Given the description of an element on the screen output the (x, y) to click on. 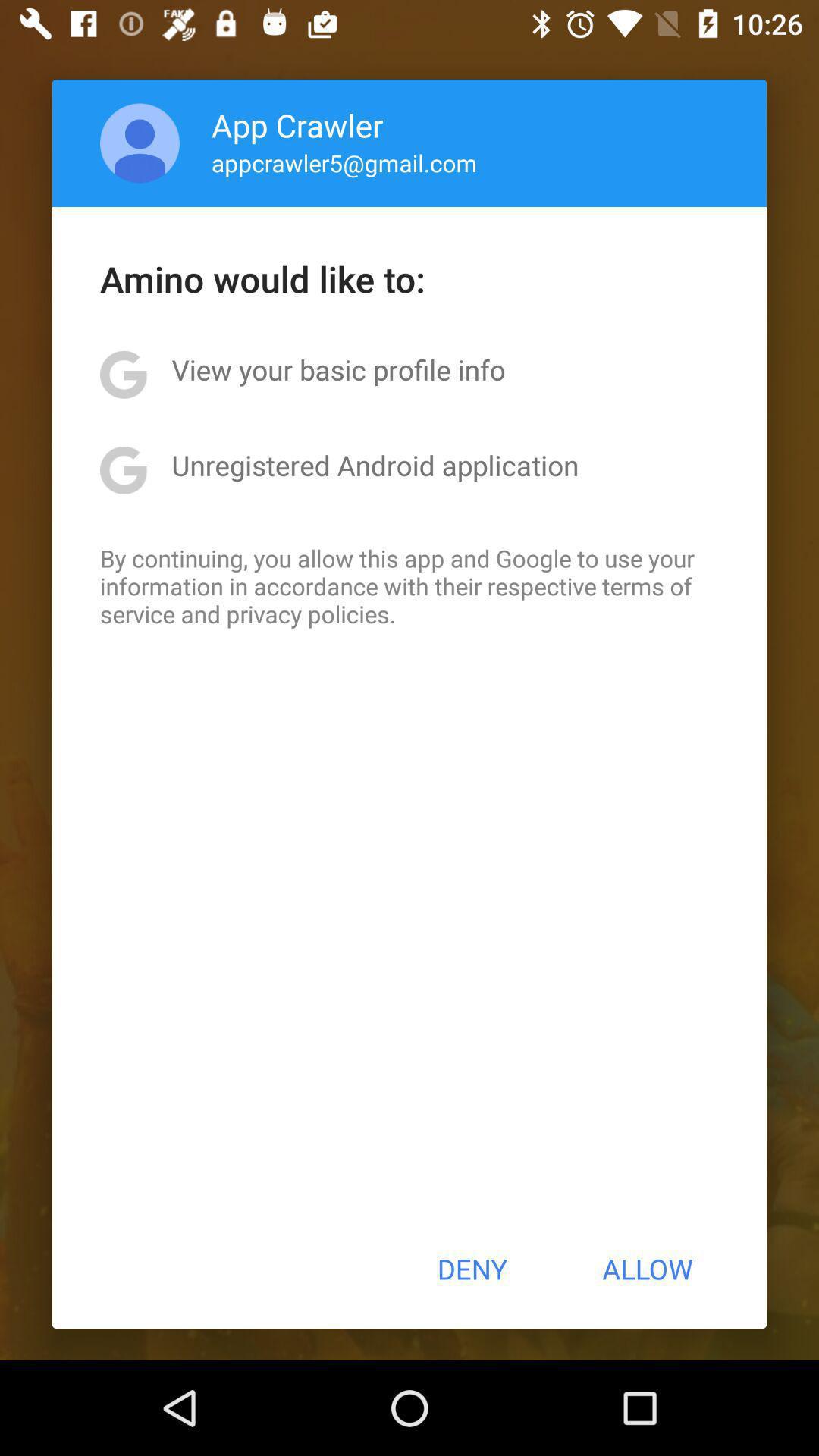
launch icon next to the allow button (471, 1268)
